Given the description of an element on the screen output the (x, y) to click on. 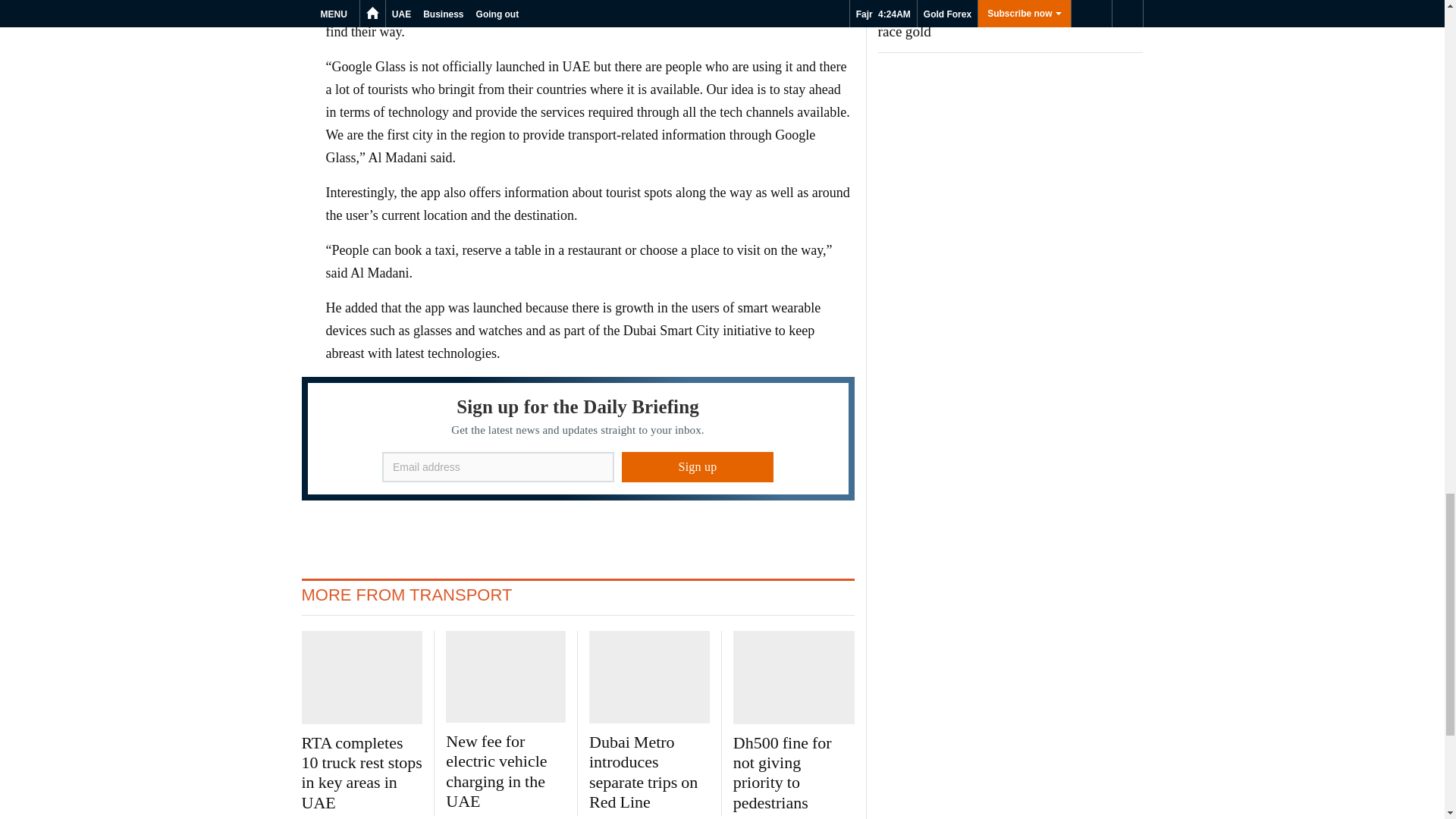
Sign up for the Daily Briefing (577, 438)
